Given the description of an element on the screen output the (x, y) to click on. 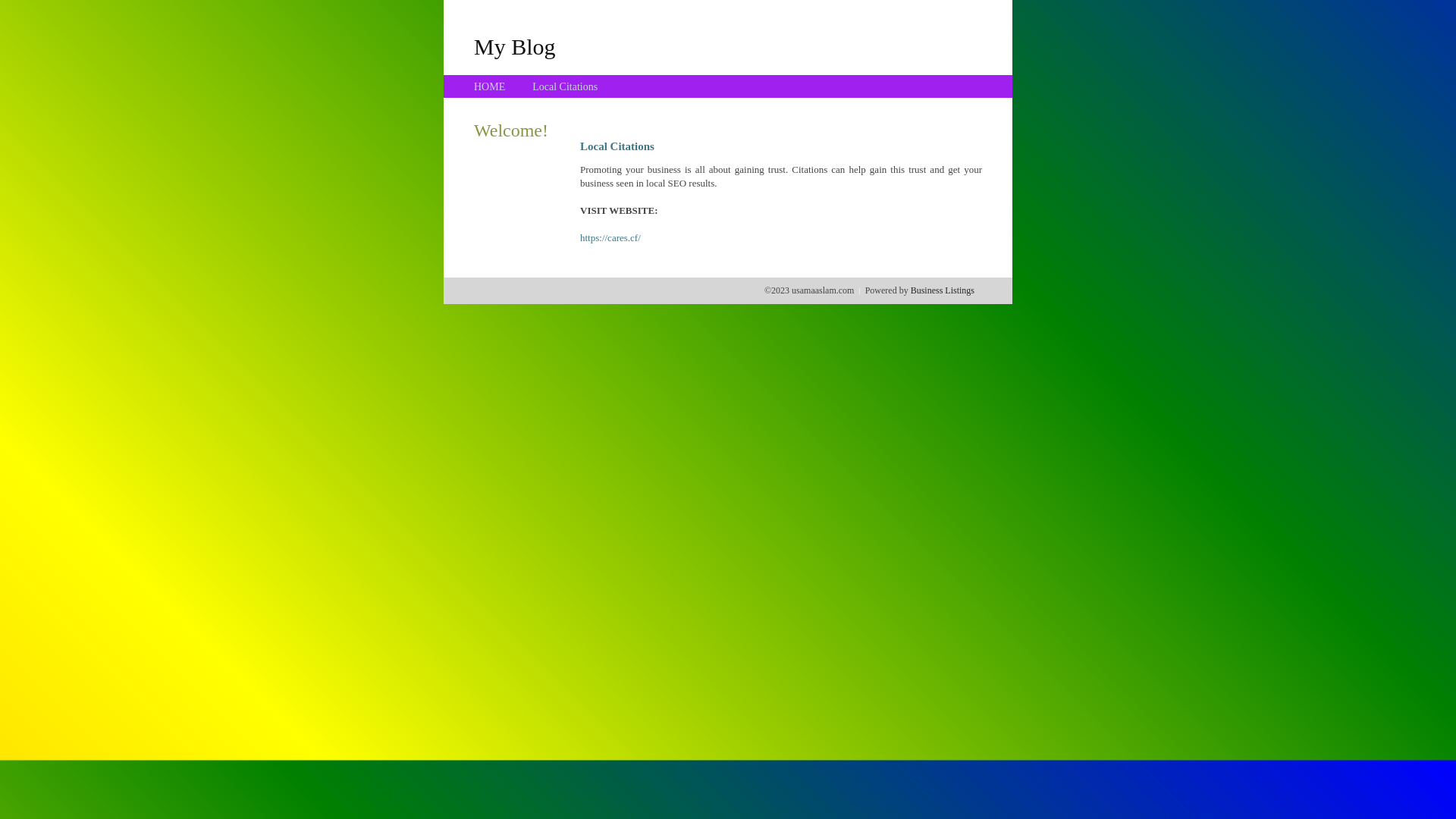
My Blog Element type: text (514, 46)
https://cares.cf/ Element type: text (610, 237)
Business Listings Element type: text (942, 290)
HOME Element type: text (489, 86)
Local Citations Element type: text (564, 86)
